Given the description of an element on the screen output the (x, y) to click on. 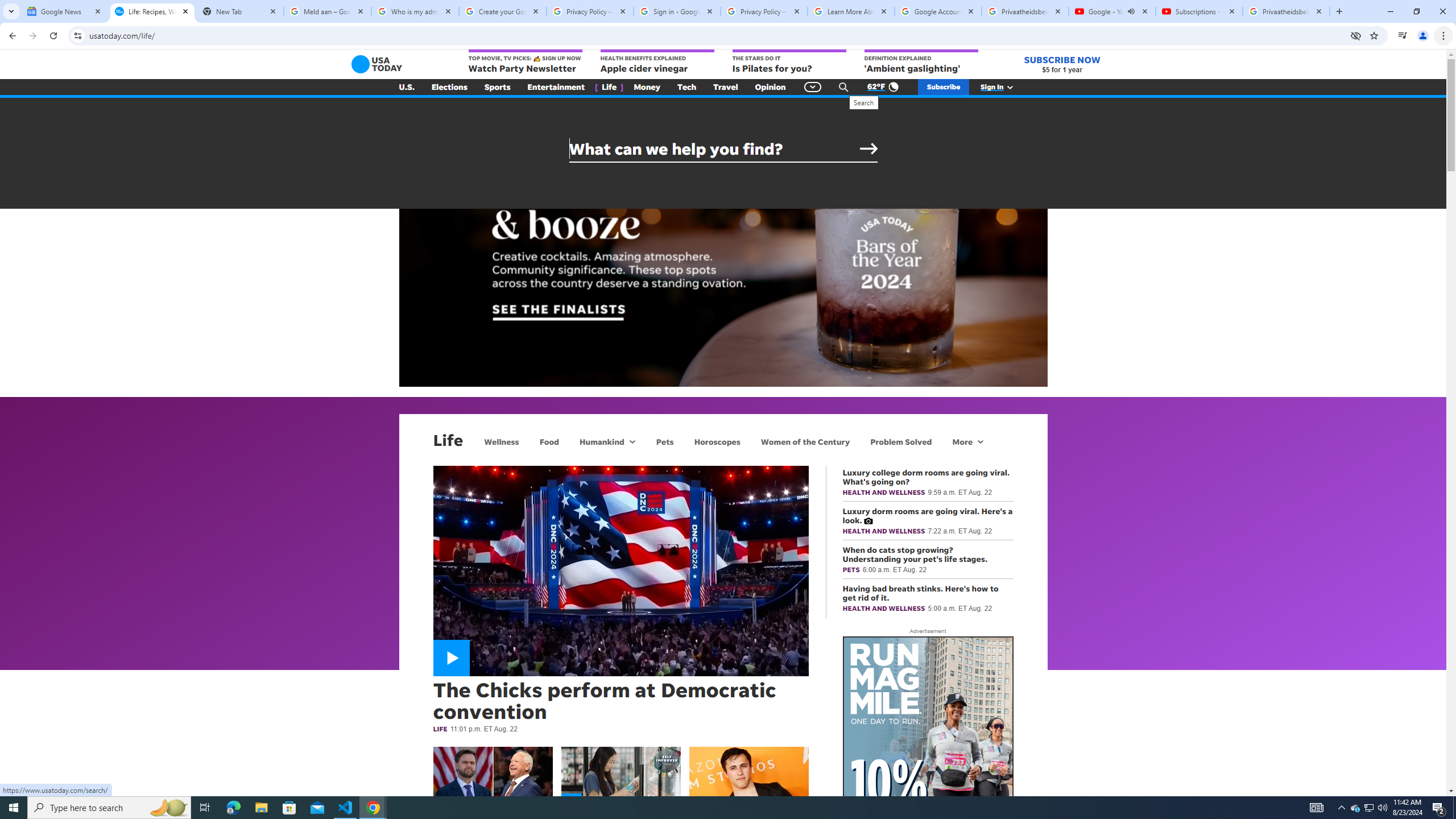
Life: Recipes, Wellness & Horoscopes - USA TODAY (151, 11)
Humankind (600, 441)
DEFINITION EXPLAINED 'Ambient gaslighting' (920, 62)
Subscriptions - YouTube (1198, 11)
USA TODAY (376, 64)
